Given the description of an element on the screen output the (x, y) to click on. 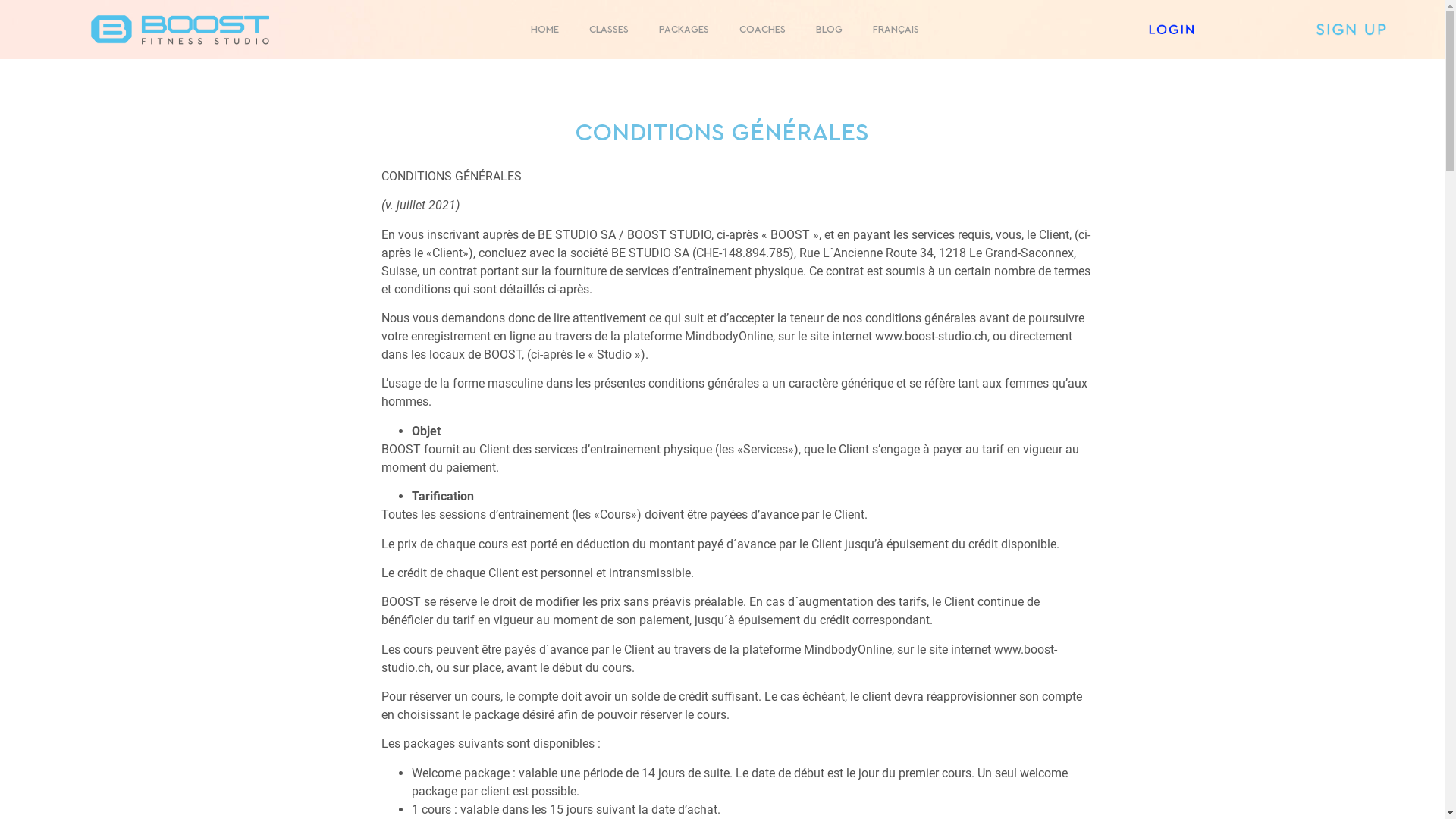
BOOST signup Element type: hover (1349, 29)
BOOST LOGIN Element type: hover (1170, 29)
CLASSES Element type: text (608, 29)
PACKAGES Element type: text (683, 29)
BLOG Element type: text (828, 29)
HOME Element type: text (544, 29)
COACHES Element type: text (762, 29)
